Given the description of an element on the screen output the (x, y) to click on. 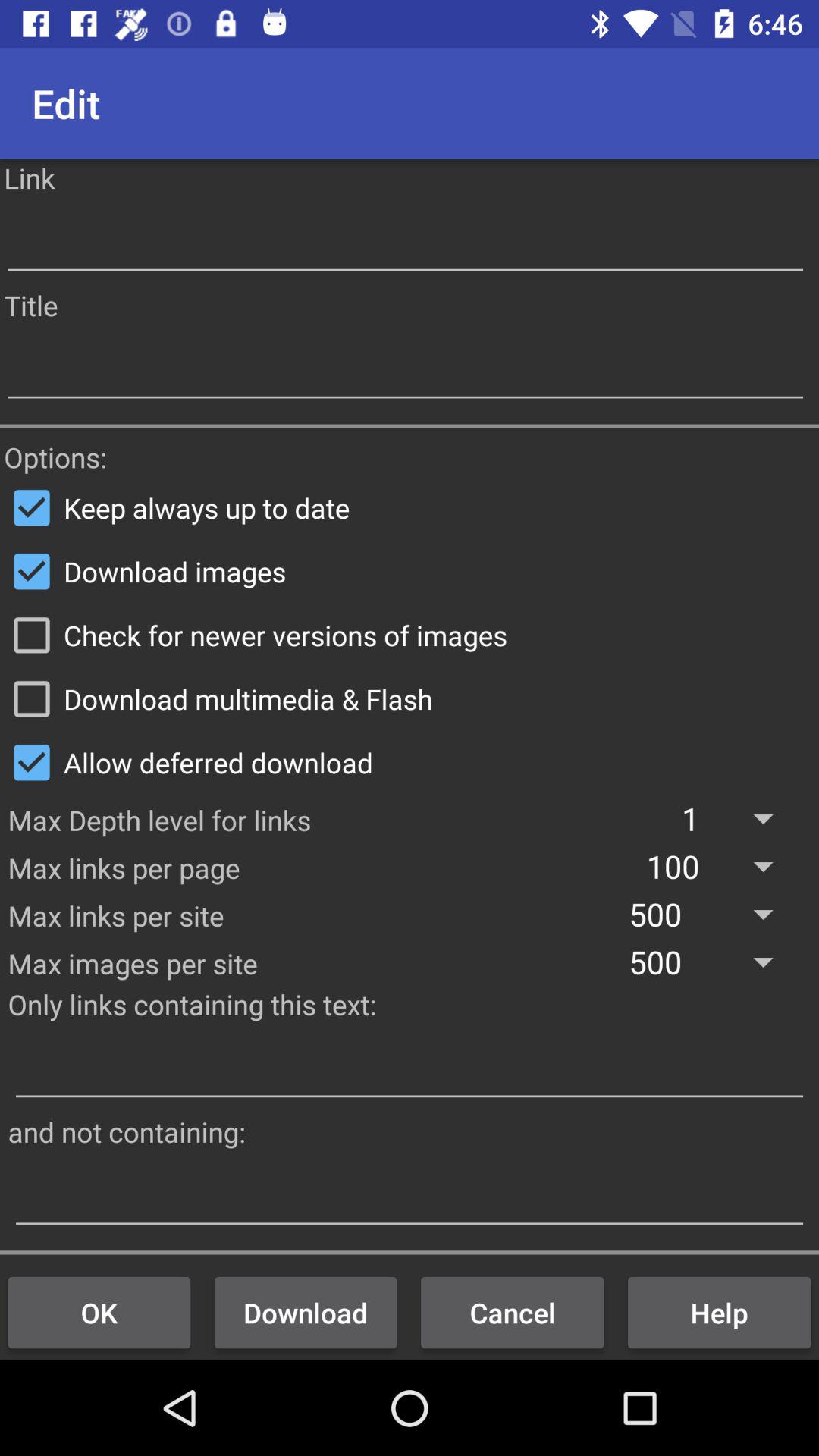
tap the check for newer icon (409, 635)
